Given the description of an element on the screen output the (x, y) to click on. 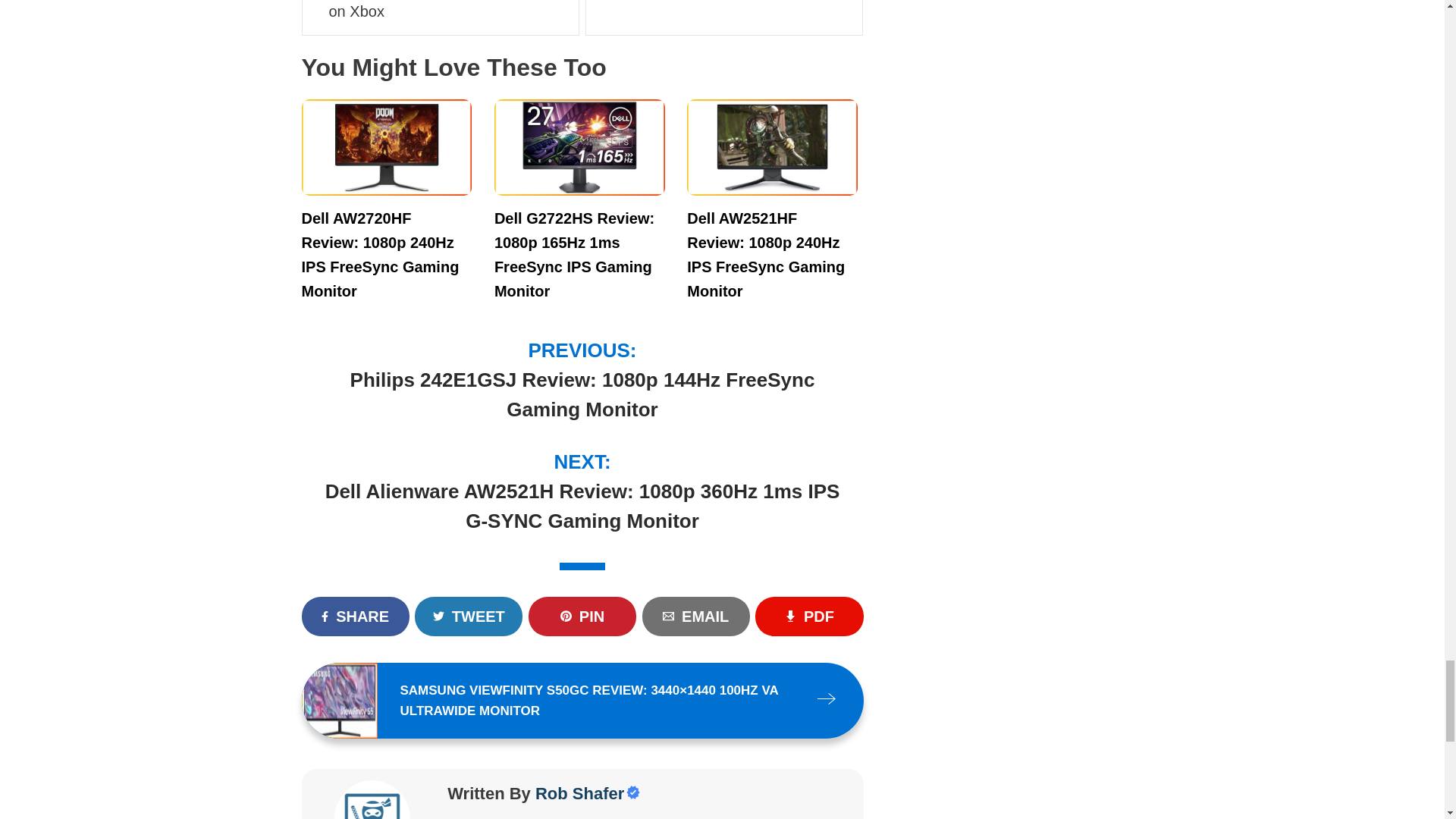
Download PDF (809, 616)
